Given the description of an element on the screen output the (x, y) to click on. 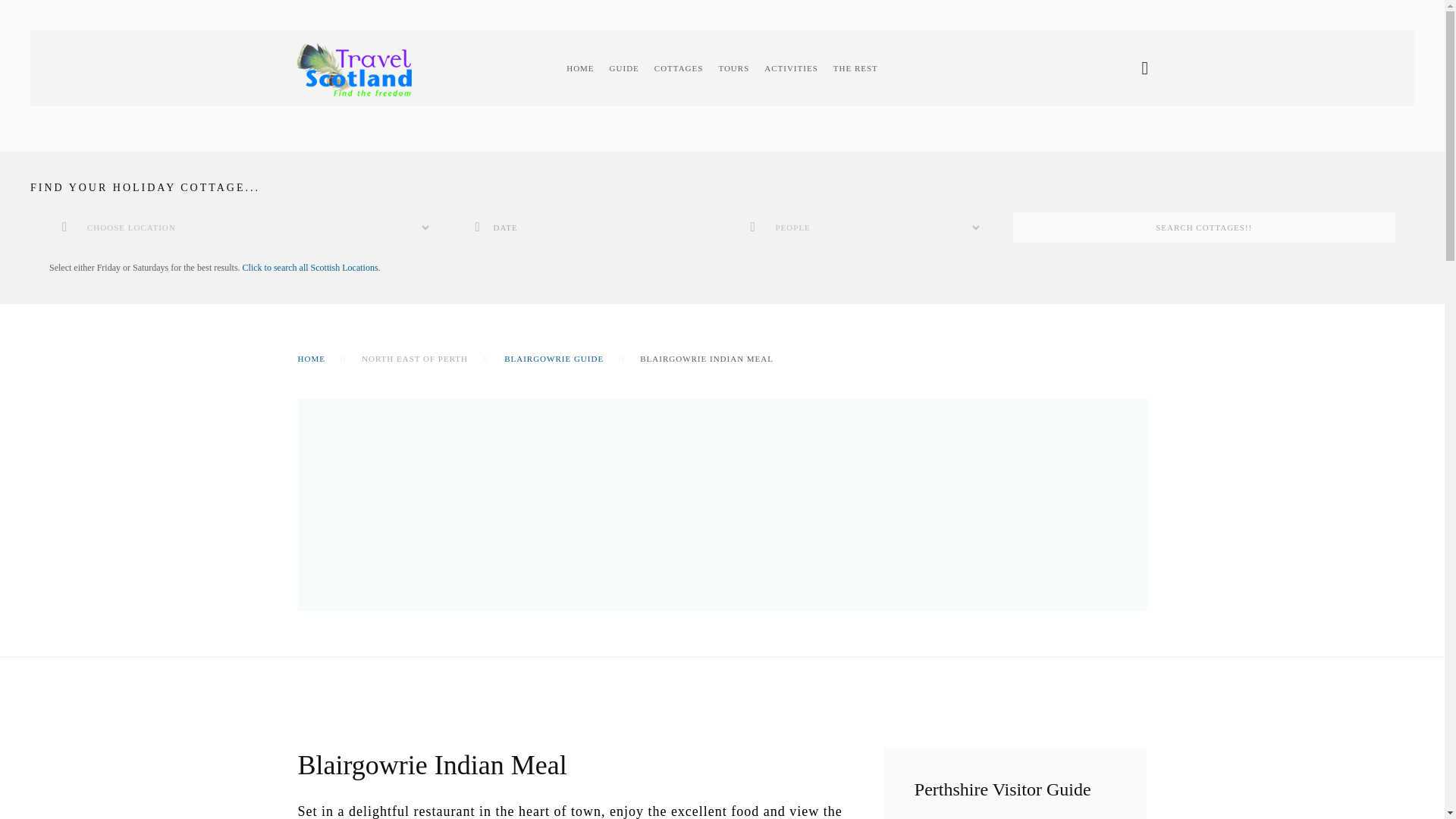
All Cottages Search (310, 267)
